Given the description of an element on the screen output the (x, y) to click on. 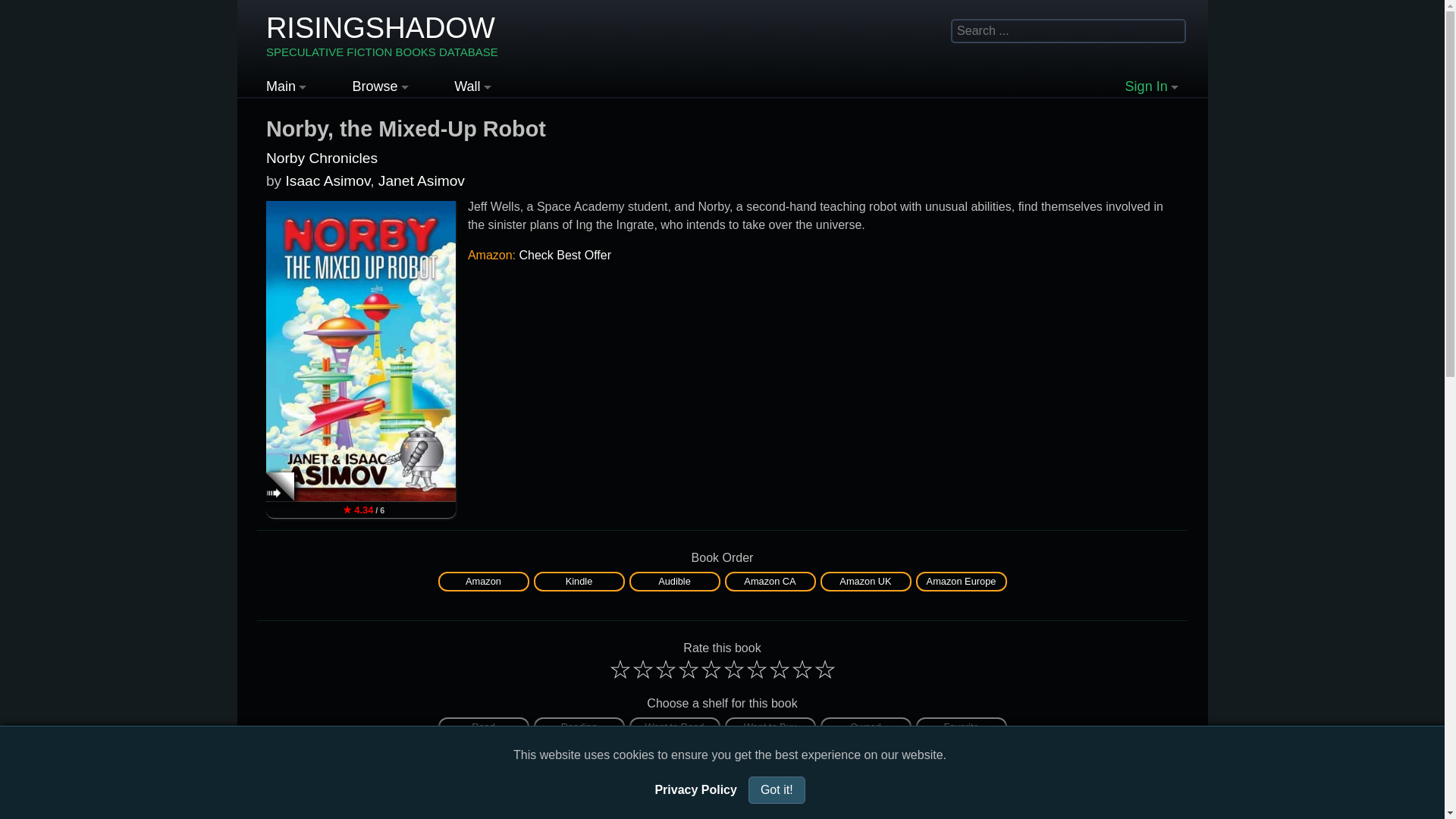
Want to Buy (770, 727)
Janet Asimov (421, 180)
Kindle (579, 581)
Read (483, 727)
Norby Chronicles (321, 157)
Audible (674, 580)
Want to Read (674, 727)
Amazon (483, 580)
Isaac Asimov (327, 180)
Amazon UK (864, 580)
Reading (579, 727)
Amazon UK (866, 581)
Reading (579, 727)
Audible (674, 581)
Want to Read (674, 727)
